Given the description of an element on the screen output the (x, y) to click on. 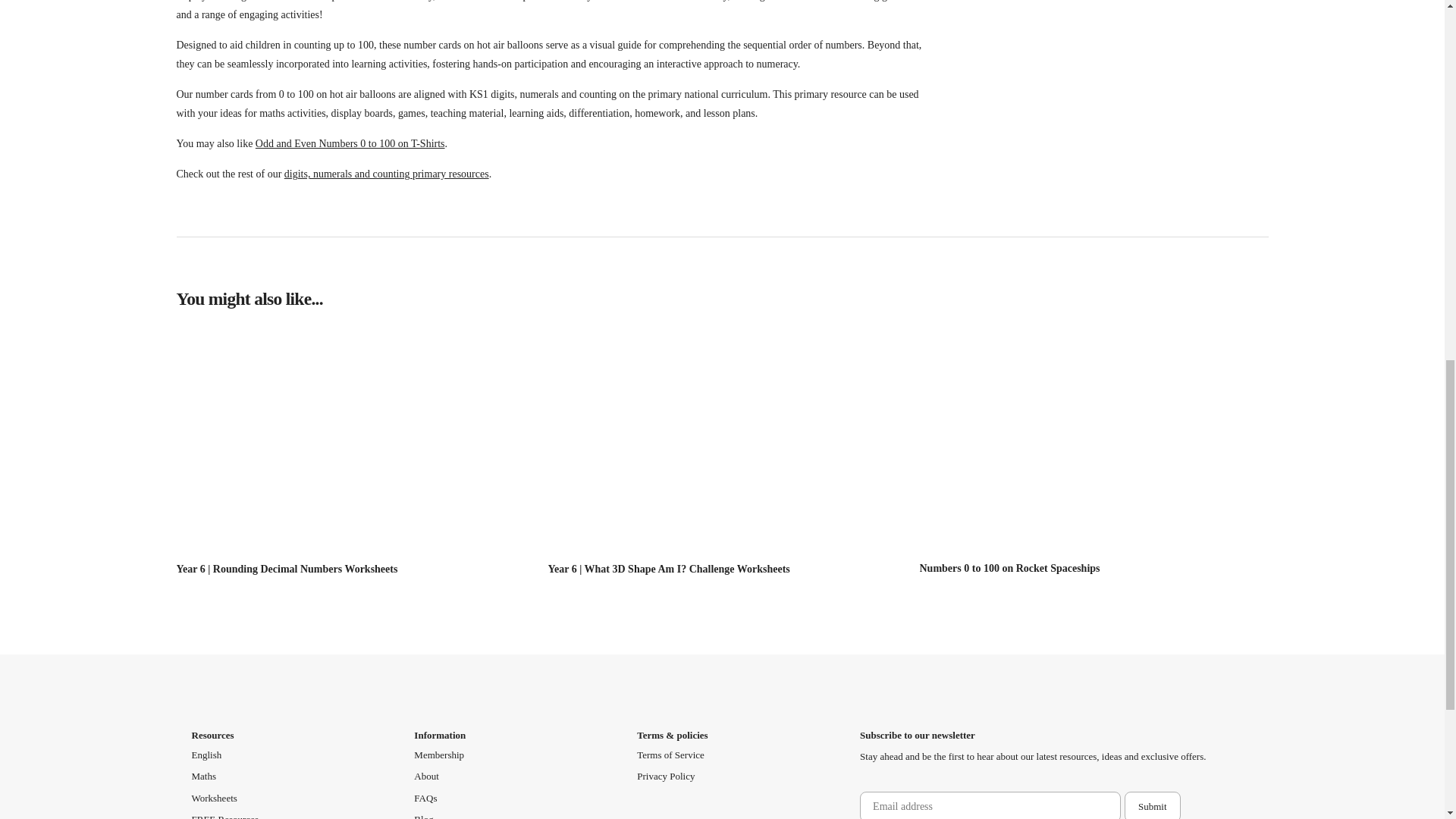
Numbers 0 to 100 on Rocket Spaceships (1008, 568)
English (205, 754)
Maths (202, 776)
digits, numerals and counting primary resources (386, 173)
Odd and Even Numbers 0 to 100 on T-Shirts (350, 143)
Worksheets (212, 798)
